Given the description of an element on the screen output the (x, y) to click on. 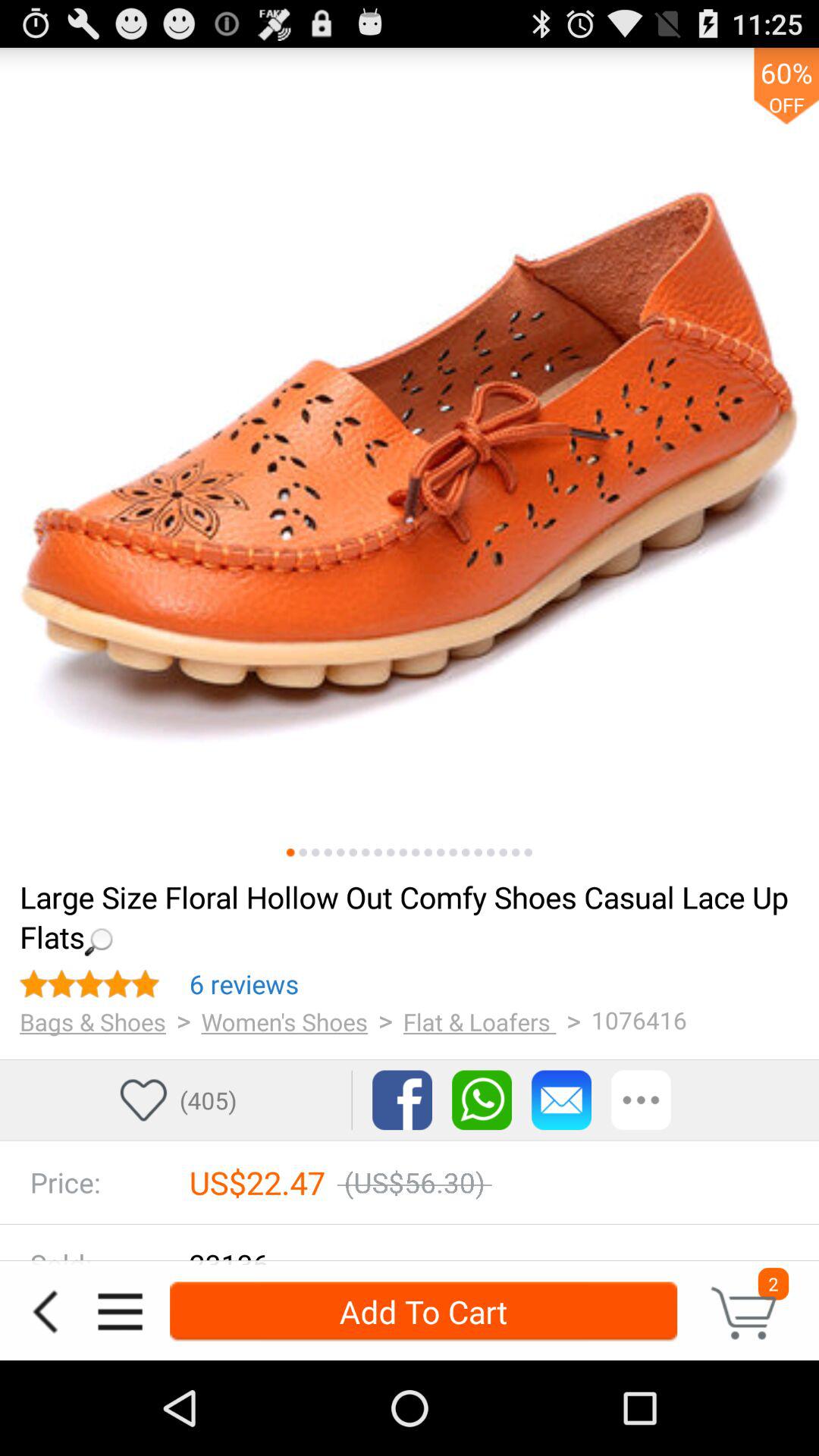
click here to see more pictures of the item (315, 852)
